Given the description of an element on the screen output the (x, y) to click on. 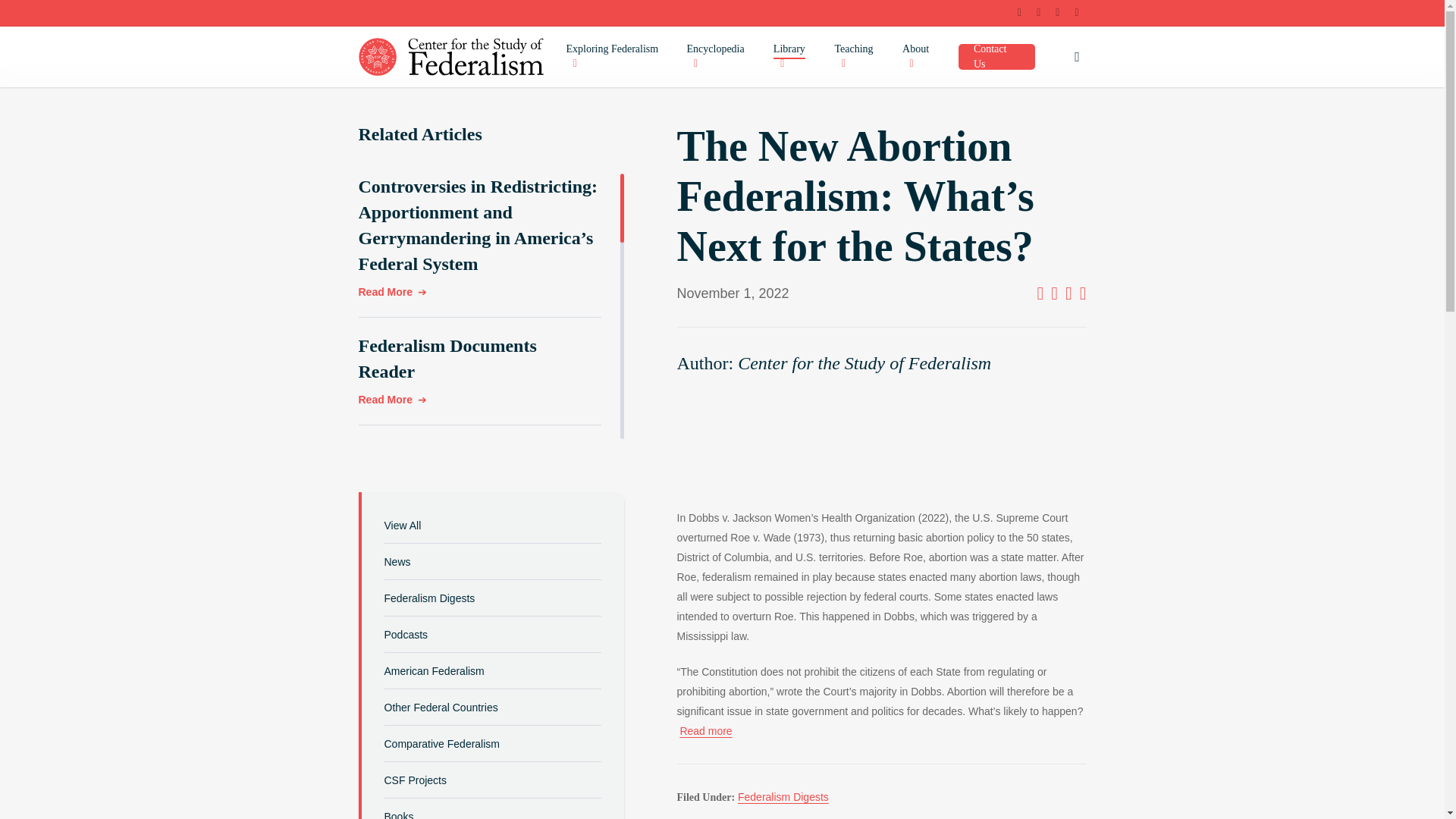
Library (796, 56)
Encyclopedia (722, 56)
Exploring Federalism (618, 56)
